Given the description of an element on the screen output the (x, y) to click on. 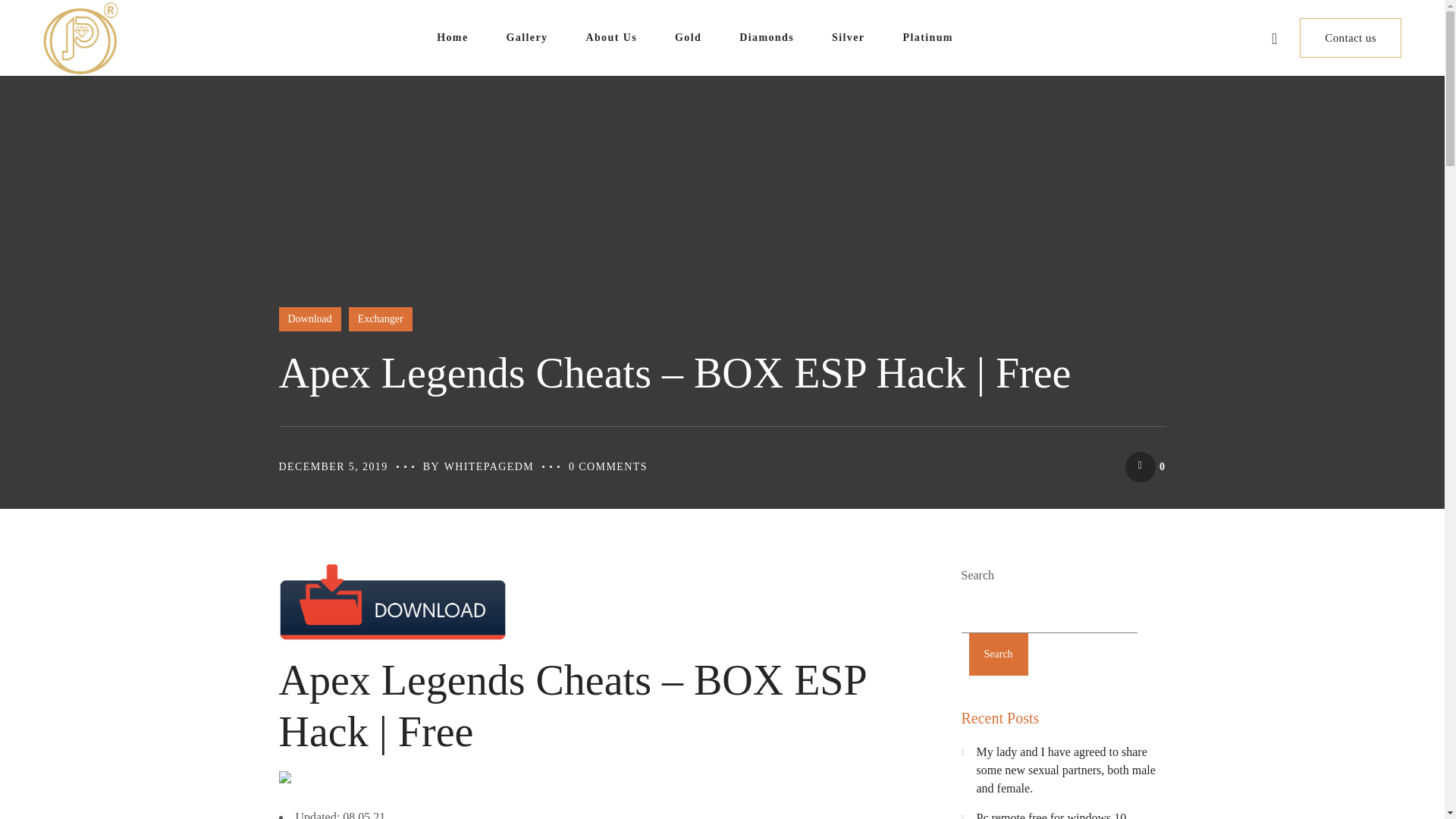
0 COMMENTS (608, 466)
Silver (847, 38)
0 LIKES (1145, 466)
Contact us (1350, 37)
WHITEPAGEDM (489, 466)
Platinum (927, 38)
About Us (611, 38)
Gallery (526, 38)
Diamonds (766, 38)
Download (309, 319)
Home (451, 38)
Leave a reply (608, 466)
Like (1145, 466)
Exchanger (380, 319)
